Given the description of an element on the screen output the (x, y) to click on. 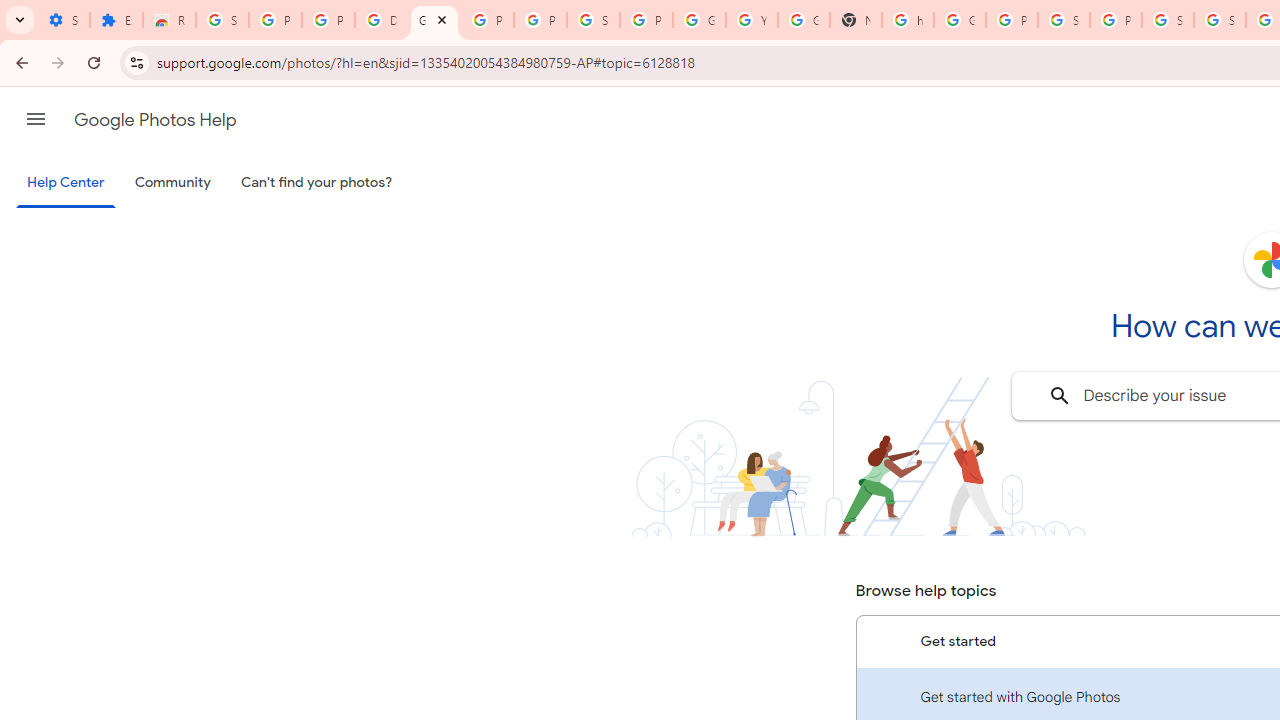
Google Photos Help (434, 20)
Sign in - Google Accounts (222, 20)
Can't find your photos? (317, 183)
Main menu (35, 119)
Sign in - Google Accounts (1219, 20)
Google Photos Help (155, 119)
